Given the description of an element on the screen output the (x, y) to click on. 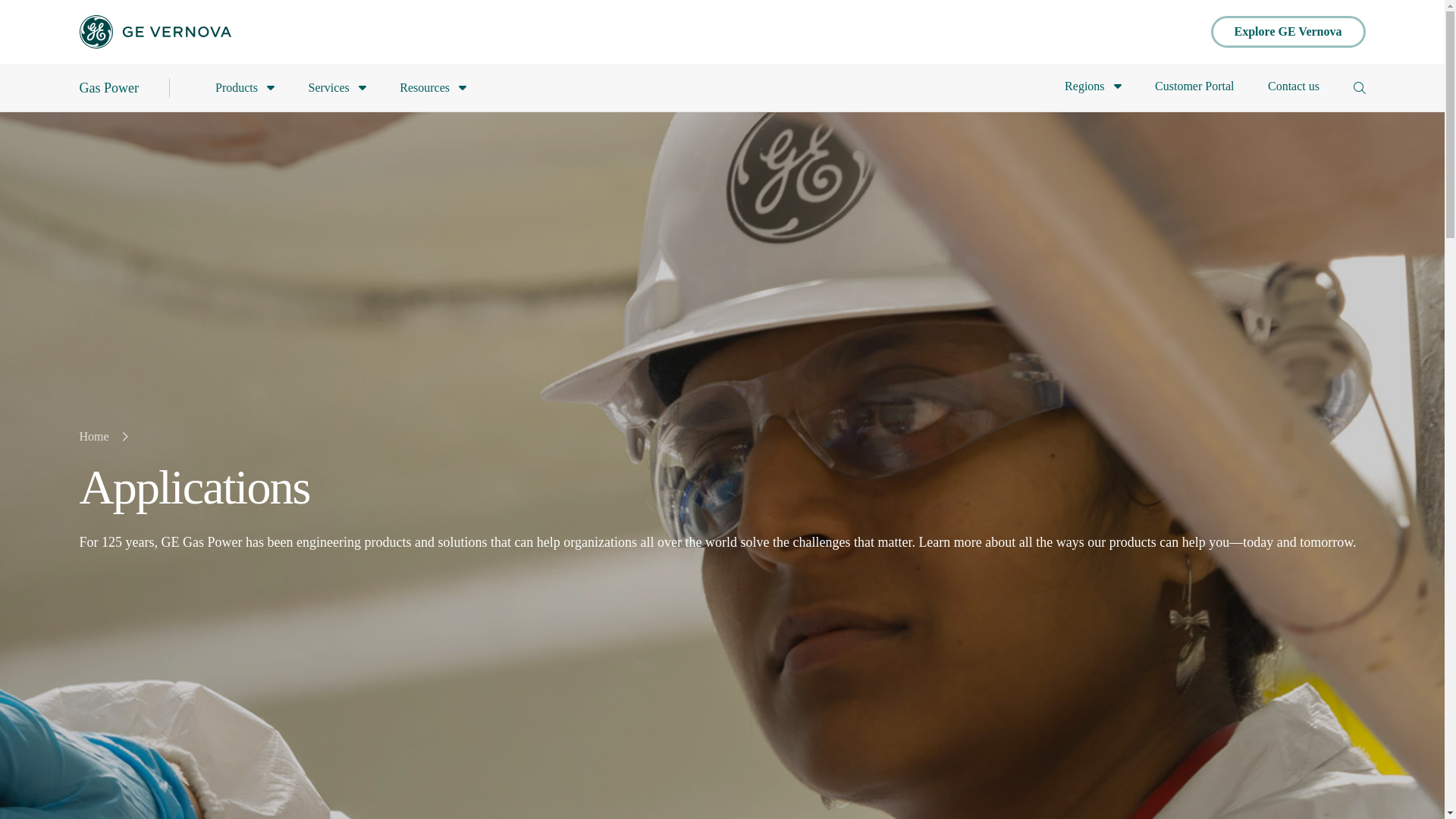
Gas Power (108, 86)
Products (245, 87)
Explore GE Vernova (1288, 31)
